Given the description of an element on the screen output the (x, y) to click on. 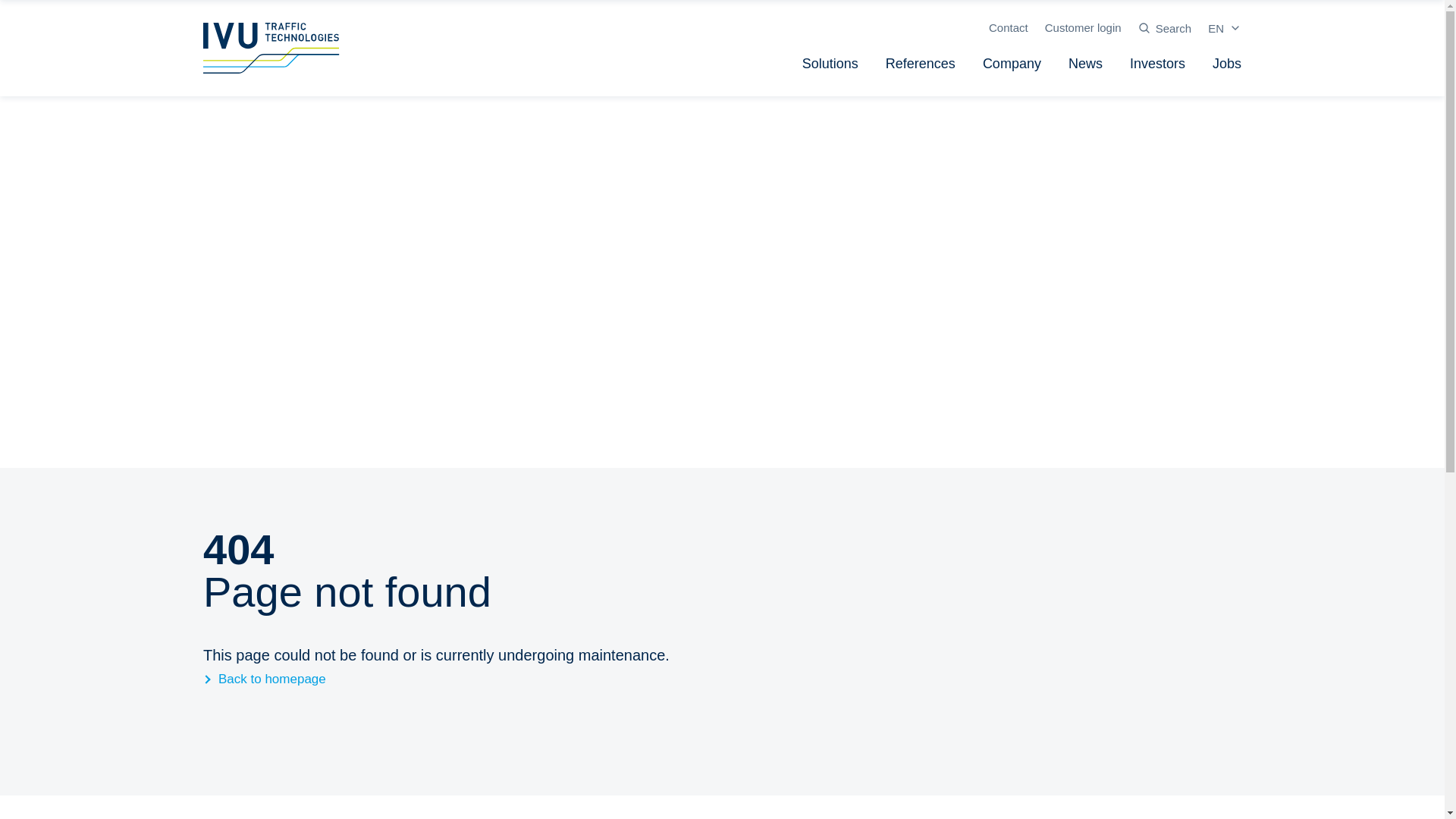
Customer login (1083, 27)
EN (1224, 28)
Contact (1007, 27)
References (920, 64)
Search (1165, 28)
Solutions (830, 64)
